Given the description of an element on the screen output the (x, y) to click on. 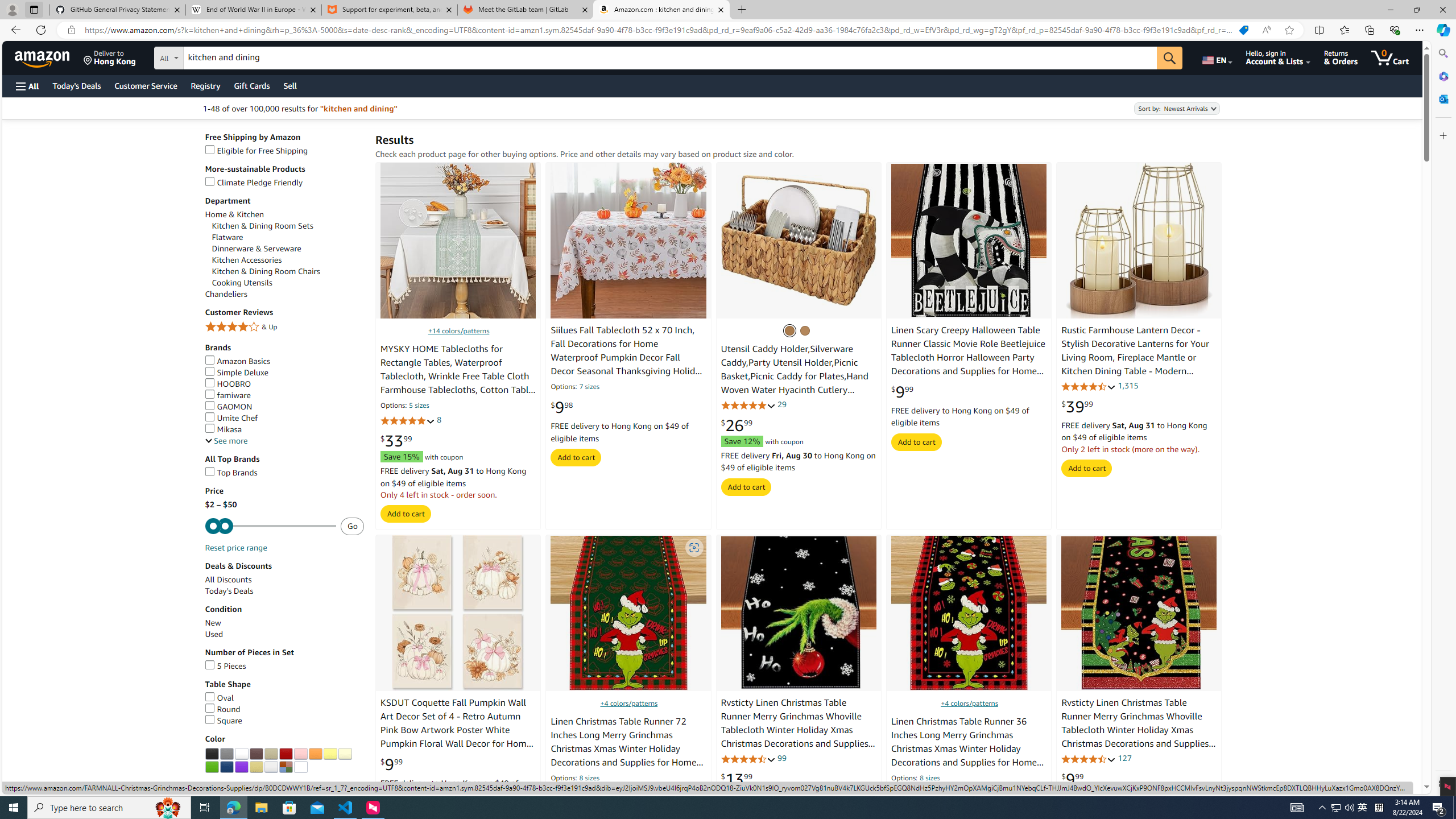
Open Menu (26, 86)
Sort by: (1177, 108)
5 sizes (418, 405)
AutomationID: p_n_feature_twenty_browse-bin/3254108011 (211, 766)
5 Pieces (225, 665)
Round (284, 709)
Go back to filtering menu (48, 788)
